Given the description of an element on the screen output the (x, y) to click on. 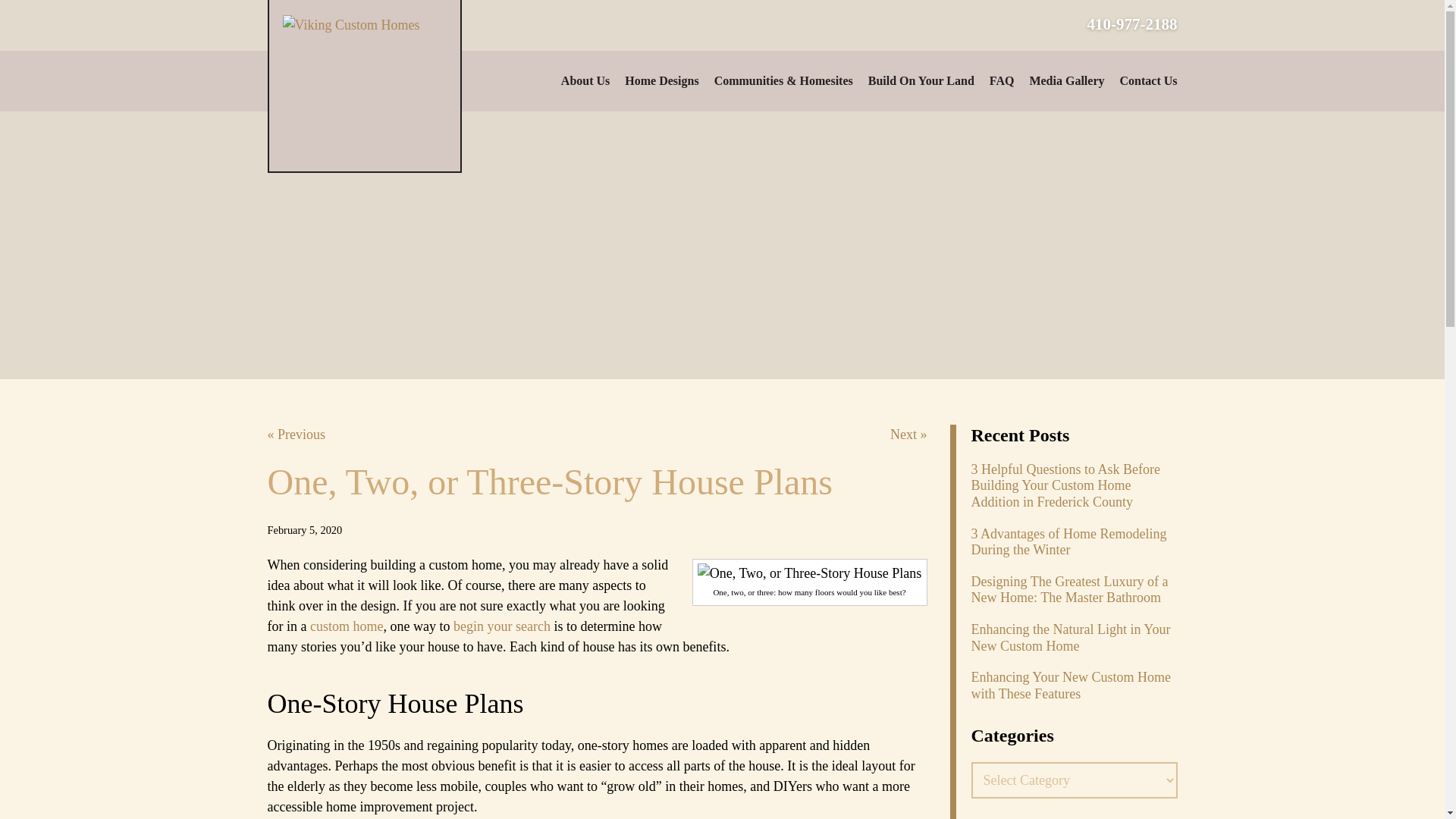
Media Gallery (1067, 80)
Contact Us (1148, 80)
Viking Custom Homes (363, 85)
Build On Your Land (920, 80)
custom home (347, 626)
About Us (585, 80)
Home Designs (661, 80)
begin your search (501, 626)
410-977-2188 (1122, 24)
